Given the description of an element on the screen output the (x, y) to click on. 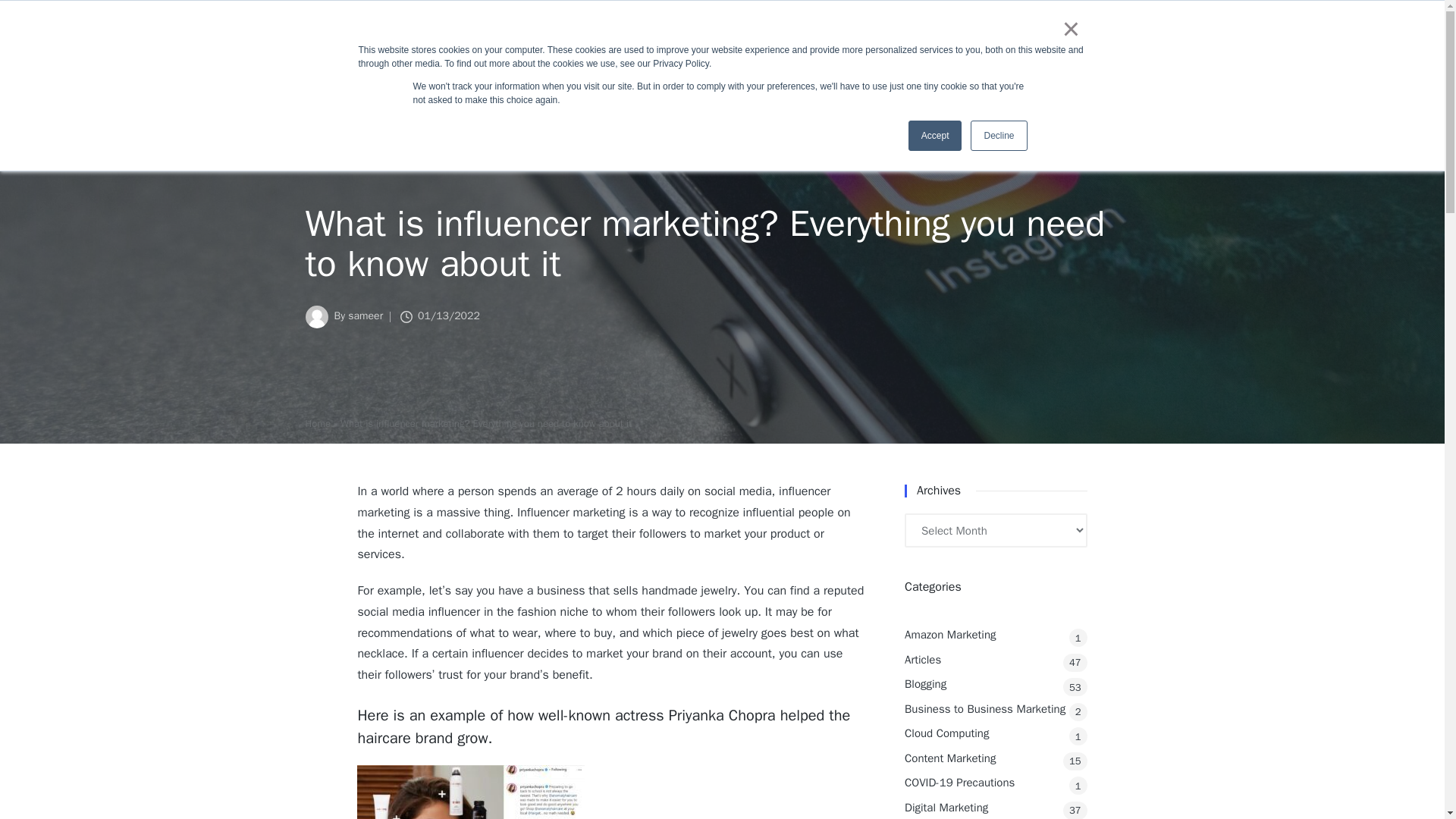
Cloud Computing (995, 733)
sameer (364, 315)
Home (317, 424)
Articles (995, 660)
Business to Business Marketing (995, 709)
Digital Marketing (995, 807)
Accept (935, 135)
Amazon Marketing (995, 634)
View all posts by sameer (364, 315)
Decline (998, 135)
Blogging (995, 683)
COVID-19 Precautions (995, 782)
Content Marketing (995, 758)
